Given the description of an element on the screen output the (x, y) to click on. 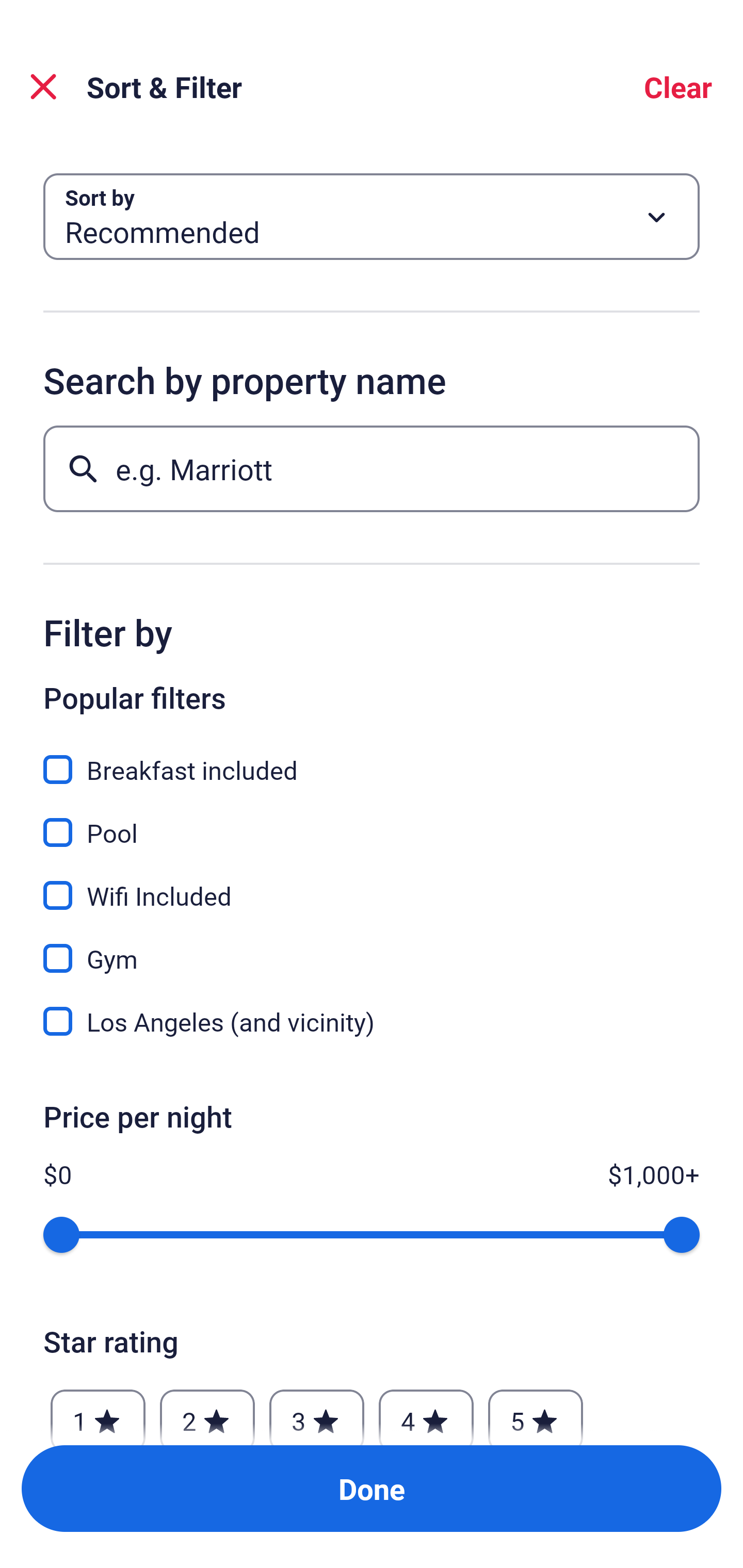
Close Sort and Filter (43, 86)
Clear (677, 86)
Sort by Button Recommended (371, 217)
e.g. Marriott Button (371, 468)
Breakfast included, Breakfast included (371, 757)
Pool, Pool (371, 821)
Wifi Included, Wifi Included (371, 883)
Gym, Gym (371, 946)
1 (97, 1411)
2 (206, 1411)
3 (316, 1411)
4 (426, 1411)
5 (535, 1411)
Apply and close Sort and Filter Done (371, 1488)
